Given the description of an element on the screen output the (x, y) to click on. 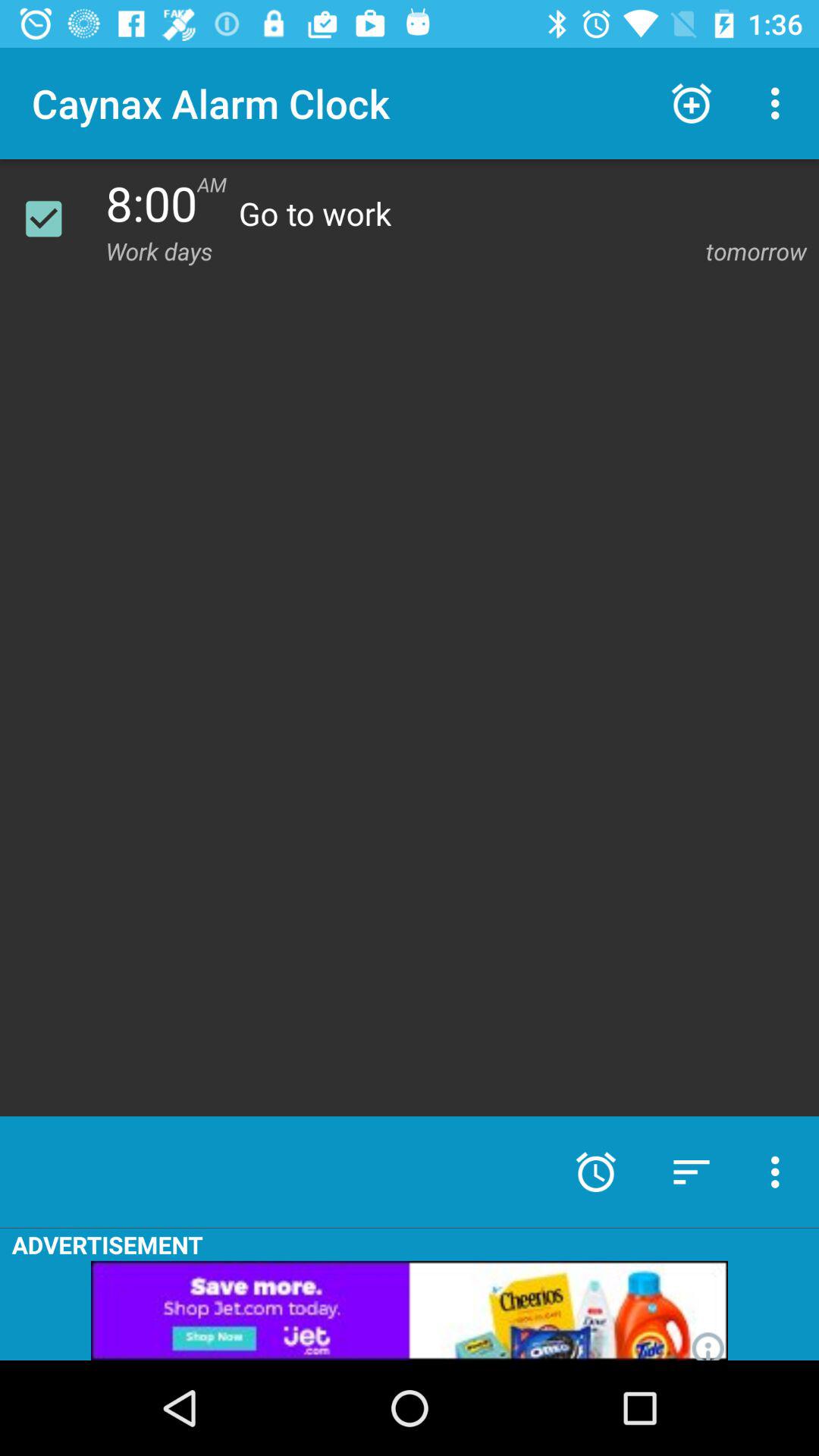
task reminder calander alarm (53, 218)
